Given the description of an element on the screen output the (x, y) to click on. 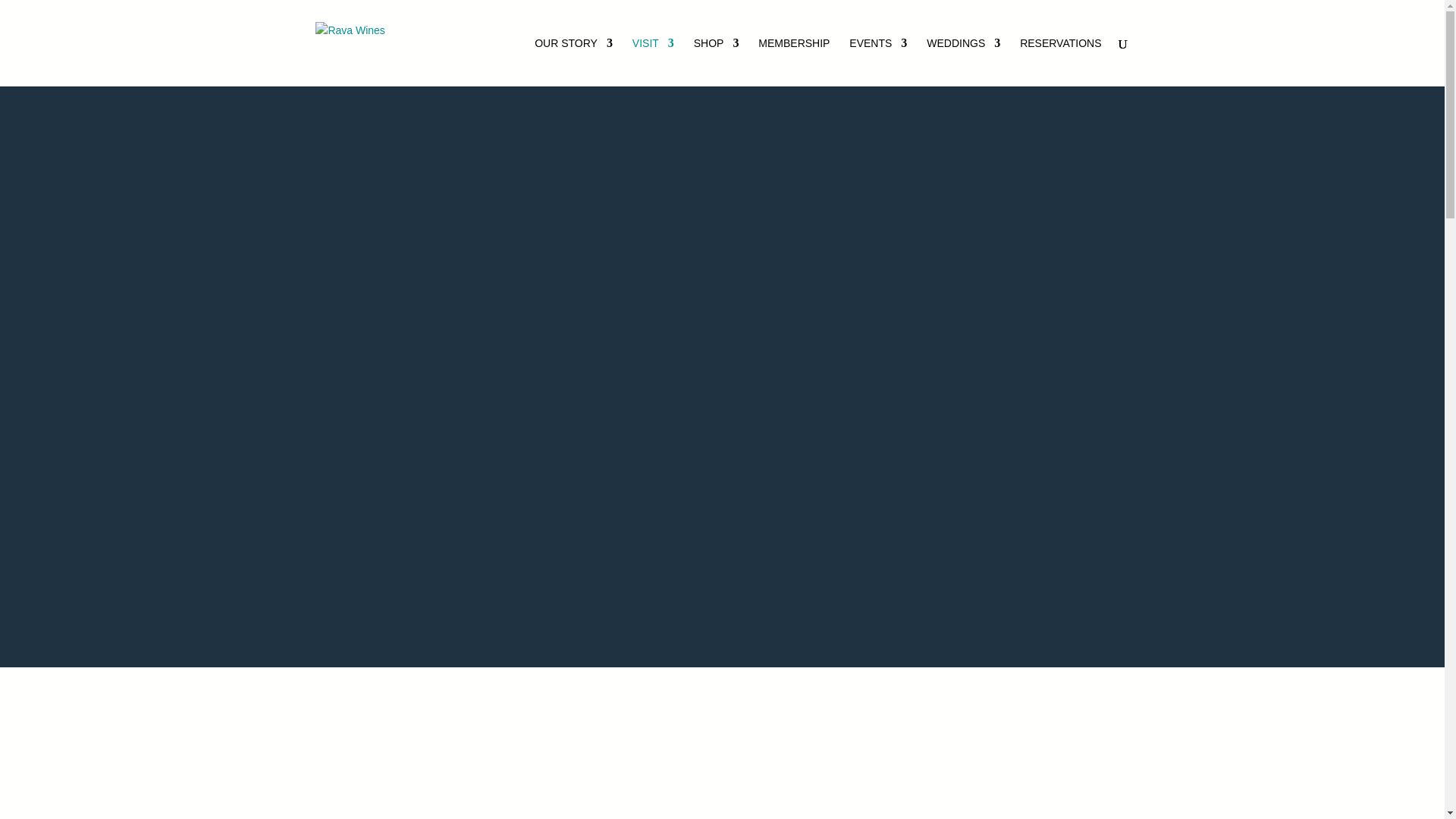
RESERVATIONS (1060, 61)
MEMBERSHIP (793, 61)
OUR STORY (573, 61)
WEDDINGS (963, 61)
SHOP (716, 61)
EVENTS (877, 61)
